Given the description of an element on the screen output the (x, y) to click on. 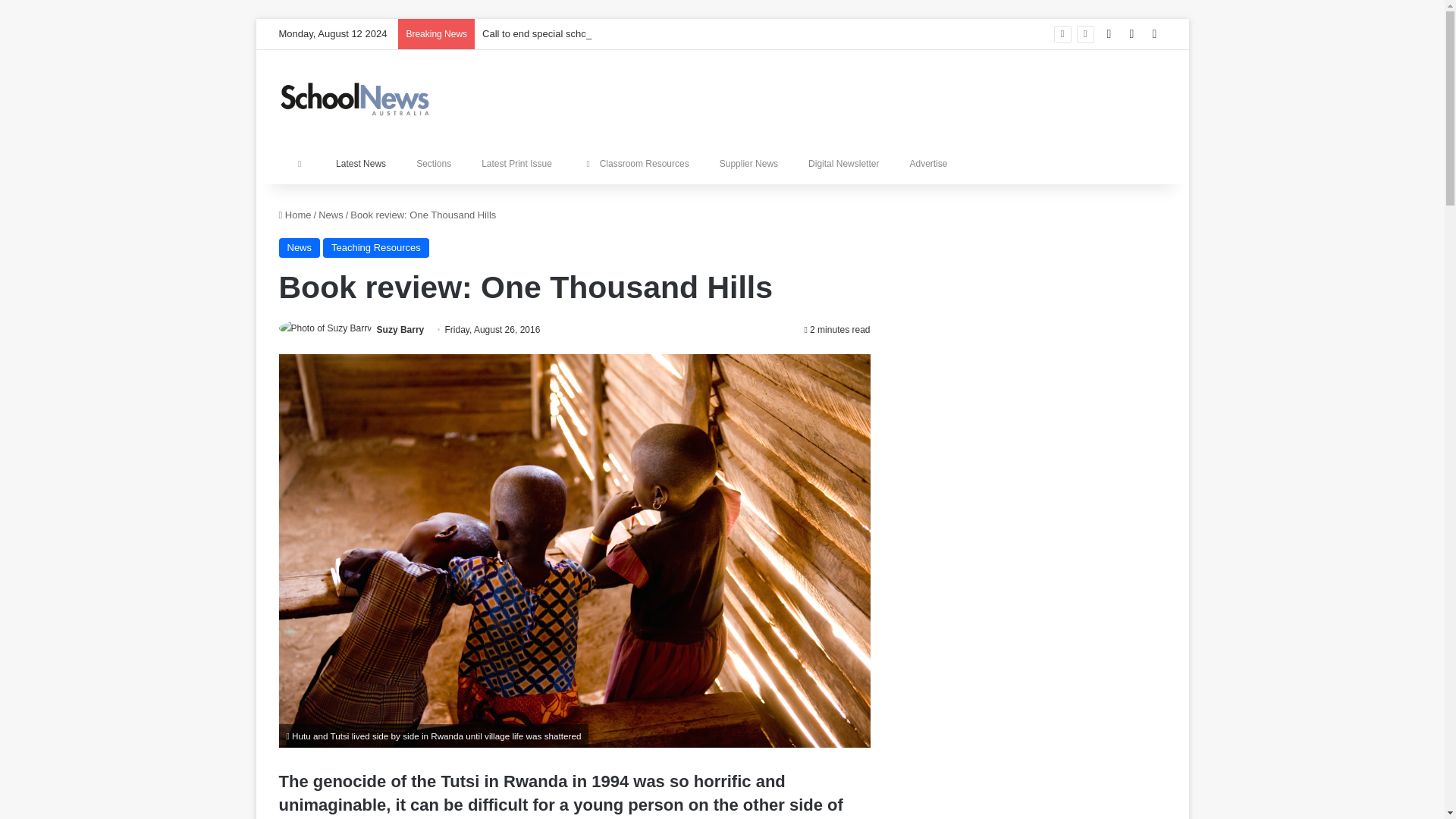
Home (295, 214)
News (299, 247)
Supplier News (748, 164)
Latest News (360, 164)
Classroom Resources (635, 164)
Suzy Barry (401, 329)
Advertise (927, 164)
Latest Print Issue (516, 164)
Sections (433, 164)
Teaching Resources (376, 247)
